Given the description of an element on the screen output the (x, y) to click on. 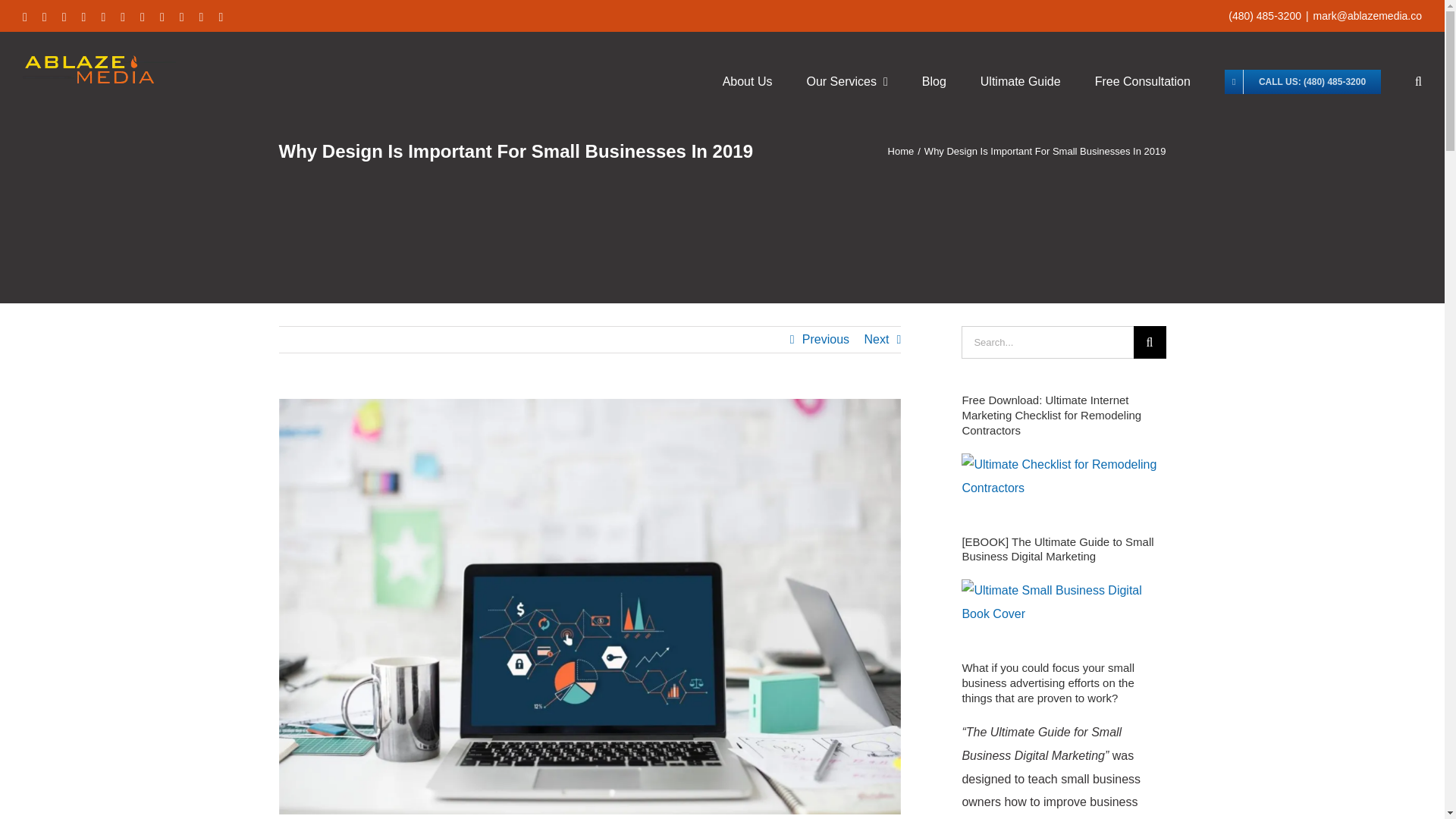
Home (901, 151)
Next (875, 339)
Free Consultation (1142, 81)
Previous (825, 339)
